Given the description of an element on the screen output the (x, y) to click on. 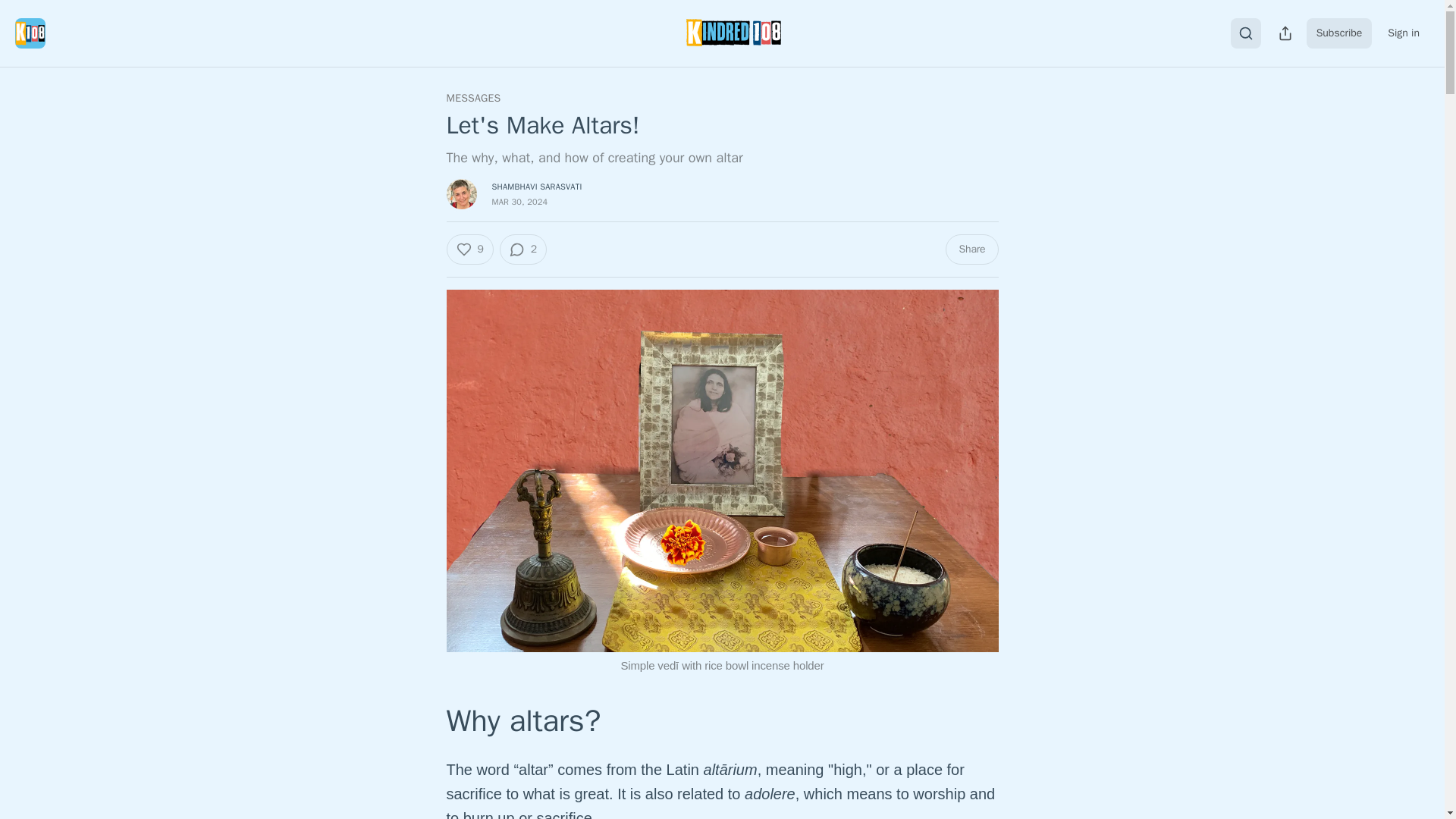
Sign in (1403, 33)
Share (970, 249)
Subscribe (1339, 33)
SHAMBHAVI SARASVATI (536, 185)
9 (469, 249)
MESSAGES (472, 98)
2 (523, 249)
